Given the description of an element on the screen output the (x, y) to click on. 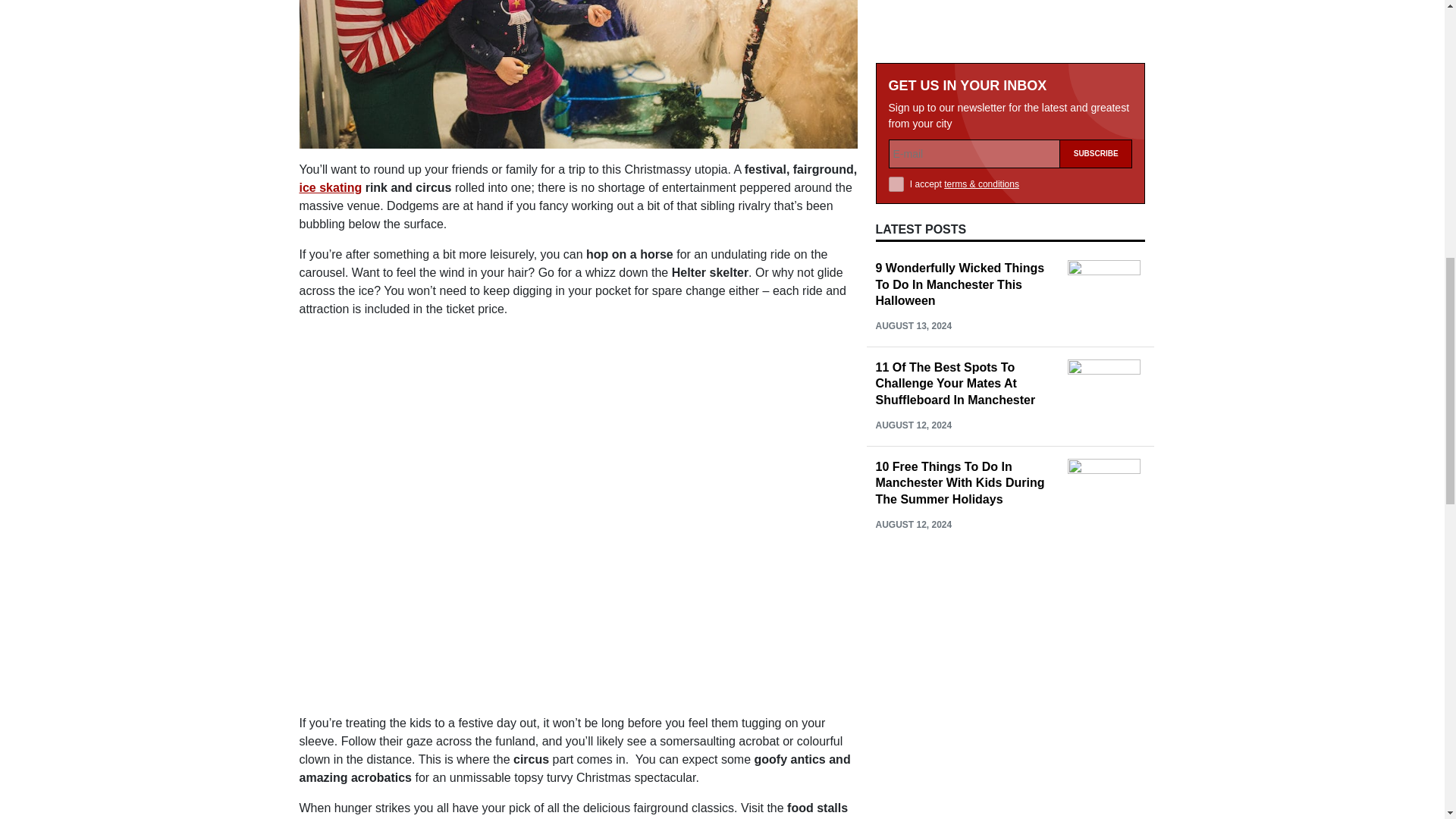
AUGUST 12, 2024 (913, 36)
ice skating (329, 187)
